Given the description of an element on the screen output the (x, y) to click on. 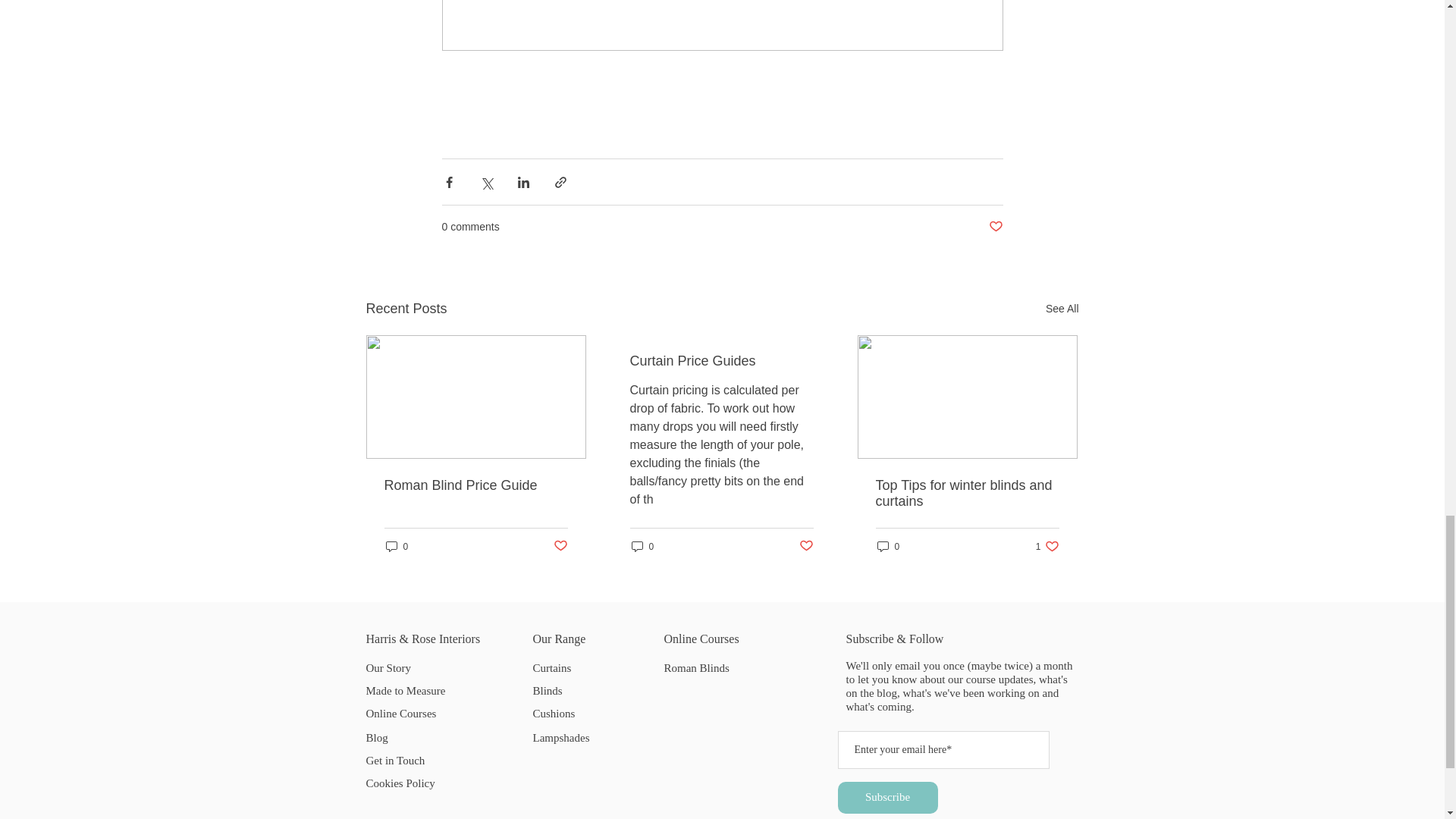
Roman Blind Price Guide (475, 485)
Post not marked as liked (995, 227)
0 (888, 545)
See All (1061, 309)
Post not marked as liked (560, 546)
0 (396, 545)
Top Tips for winter blinds and curtains (966, 493)
Curtain Price Guides (720, 360)
0 (641, 545)
Post not marked as liked (806, 546)
